Given the description of an element on the screen output the (x, y) to click on. 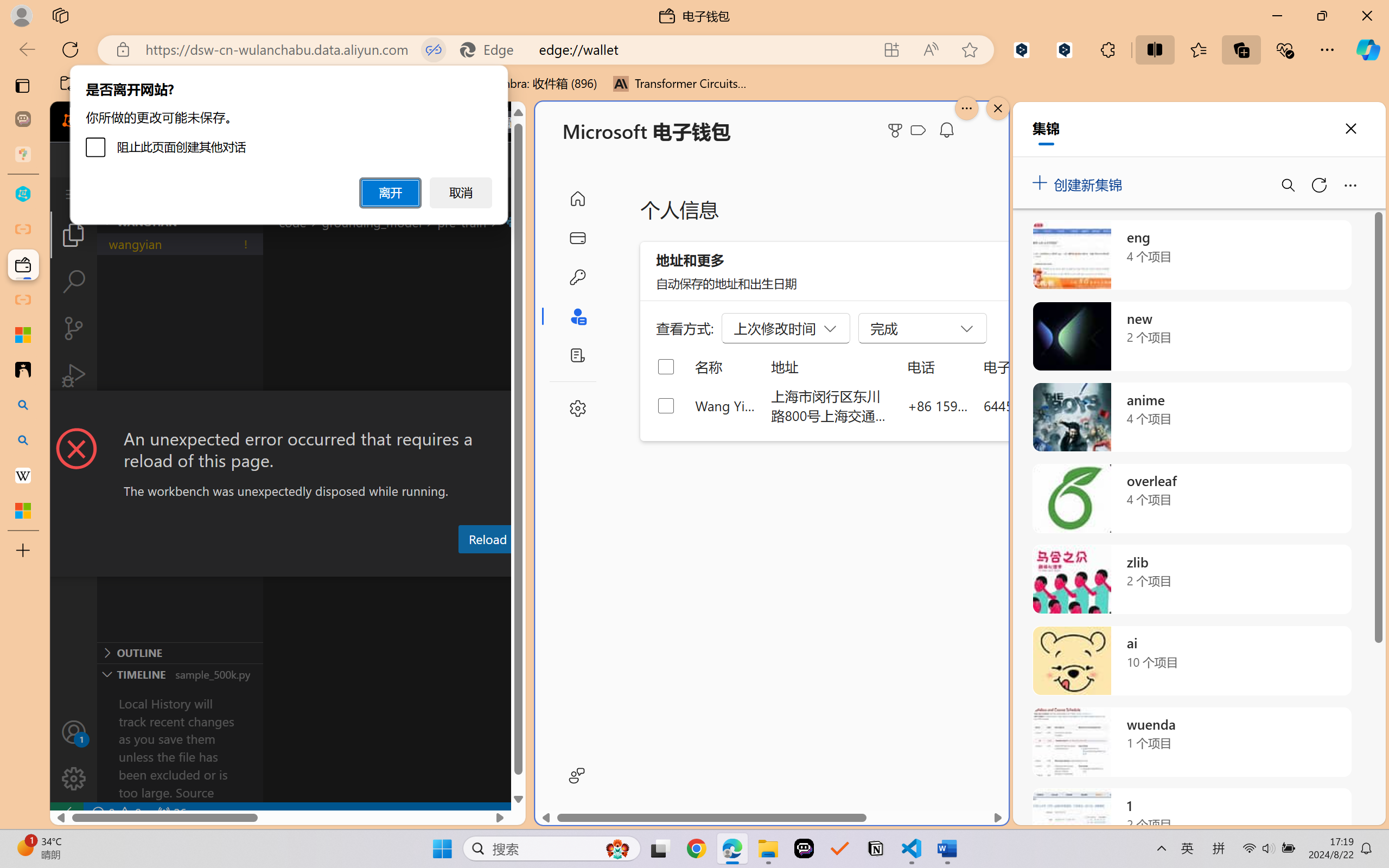
Manage (73, 778)
Wang Yian (725, 405)
644553698@qq.com (1043, 405)
Accounts - Sign in requested (73, 732)
